Given the description of an element on the screen output the (x, y) to click on. 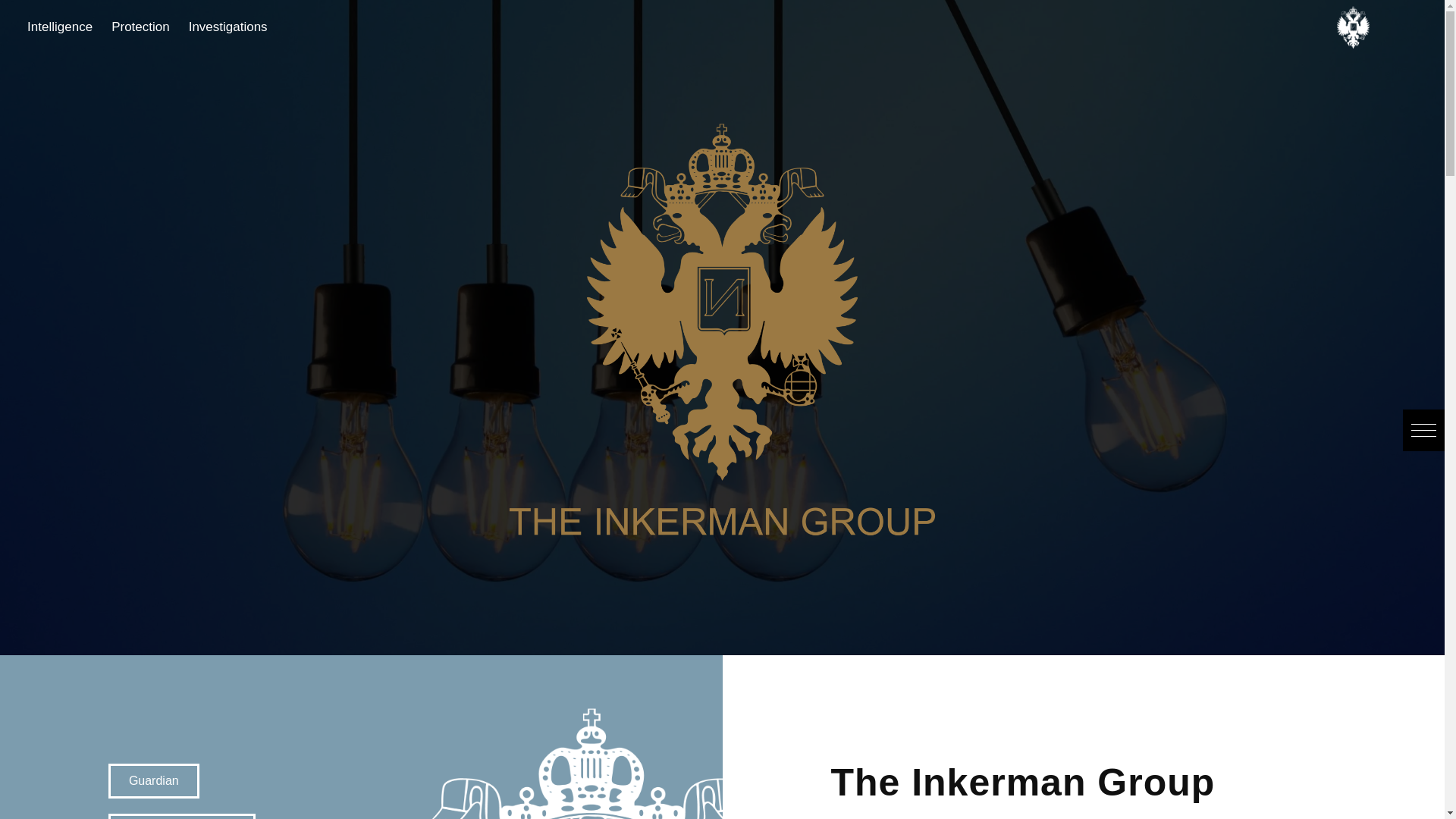
Investigations (198, 26)
Protection (107, 26)
Intelligence (28, 26)
Search (31, 15)
